Given the description of an element on the screen output the (x, y) to click on. 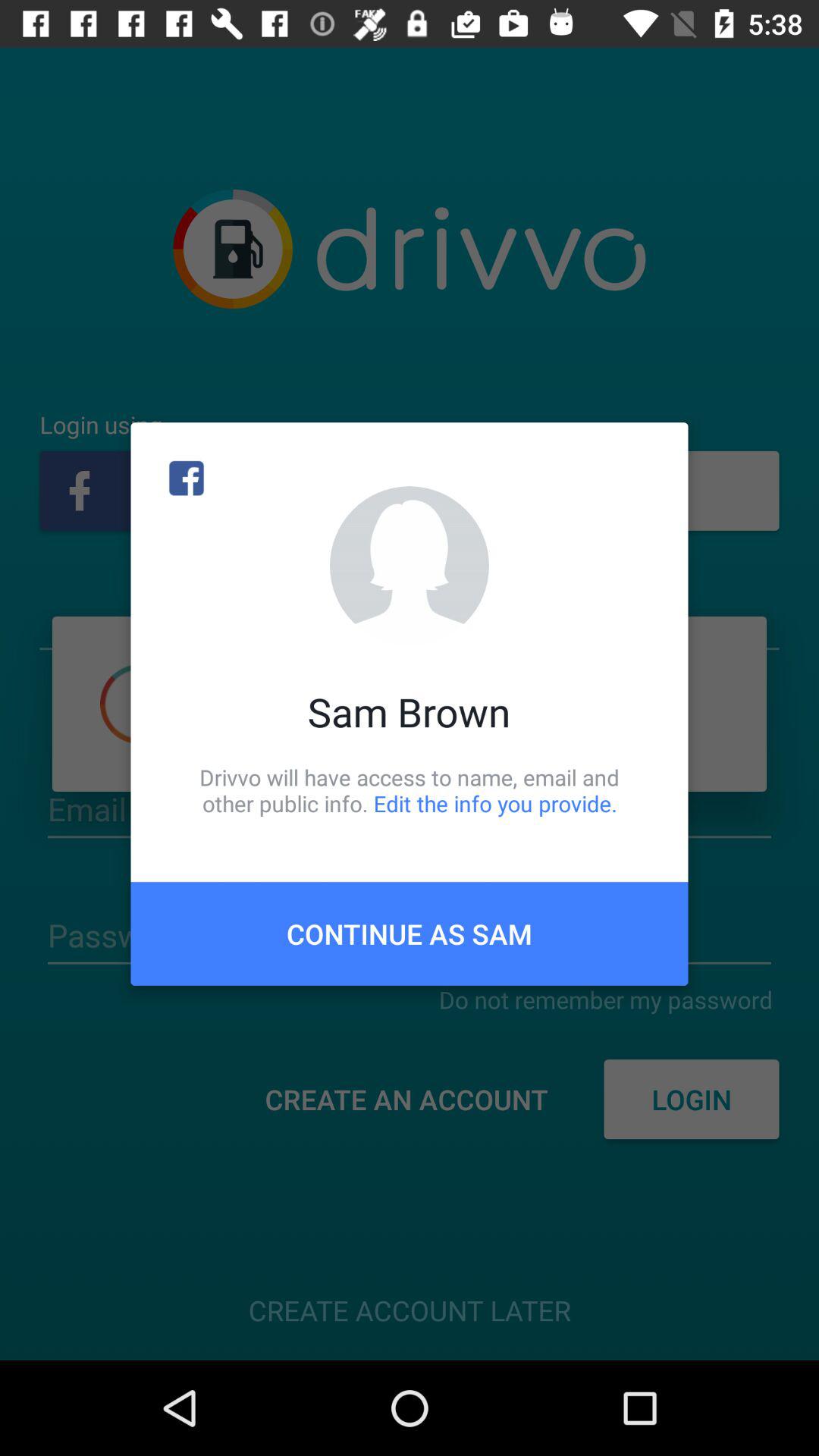
launch drivvo will have item (409, 790)
